Given the description of an element on the screen output the (x, y) to click on. 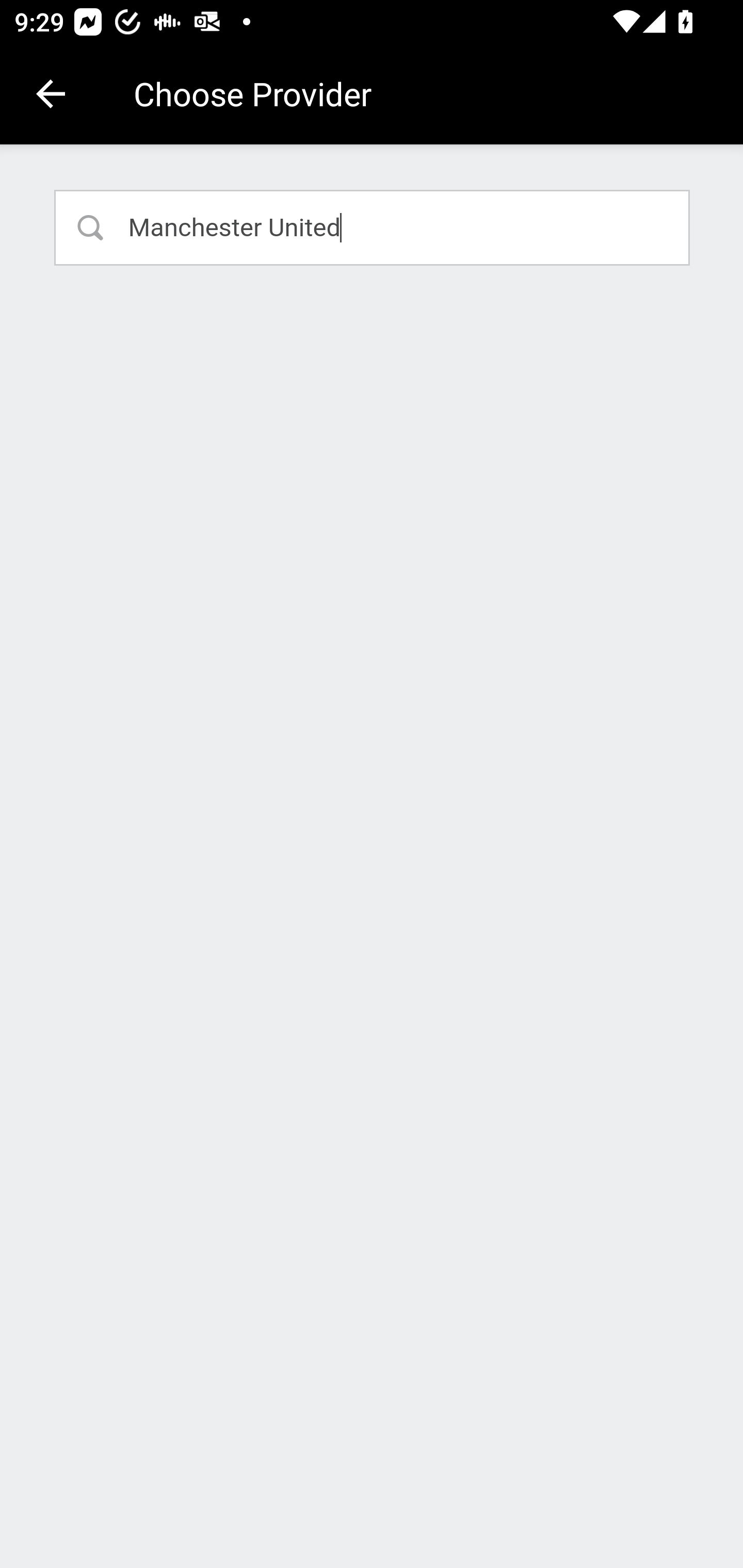
Navigate up (50, 93)
Manchester United (372, 227)
